Given the description of an element on the screen output the (x, y) to click on. 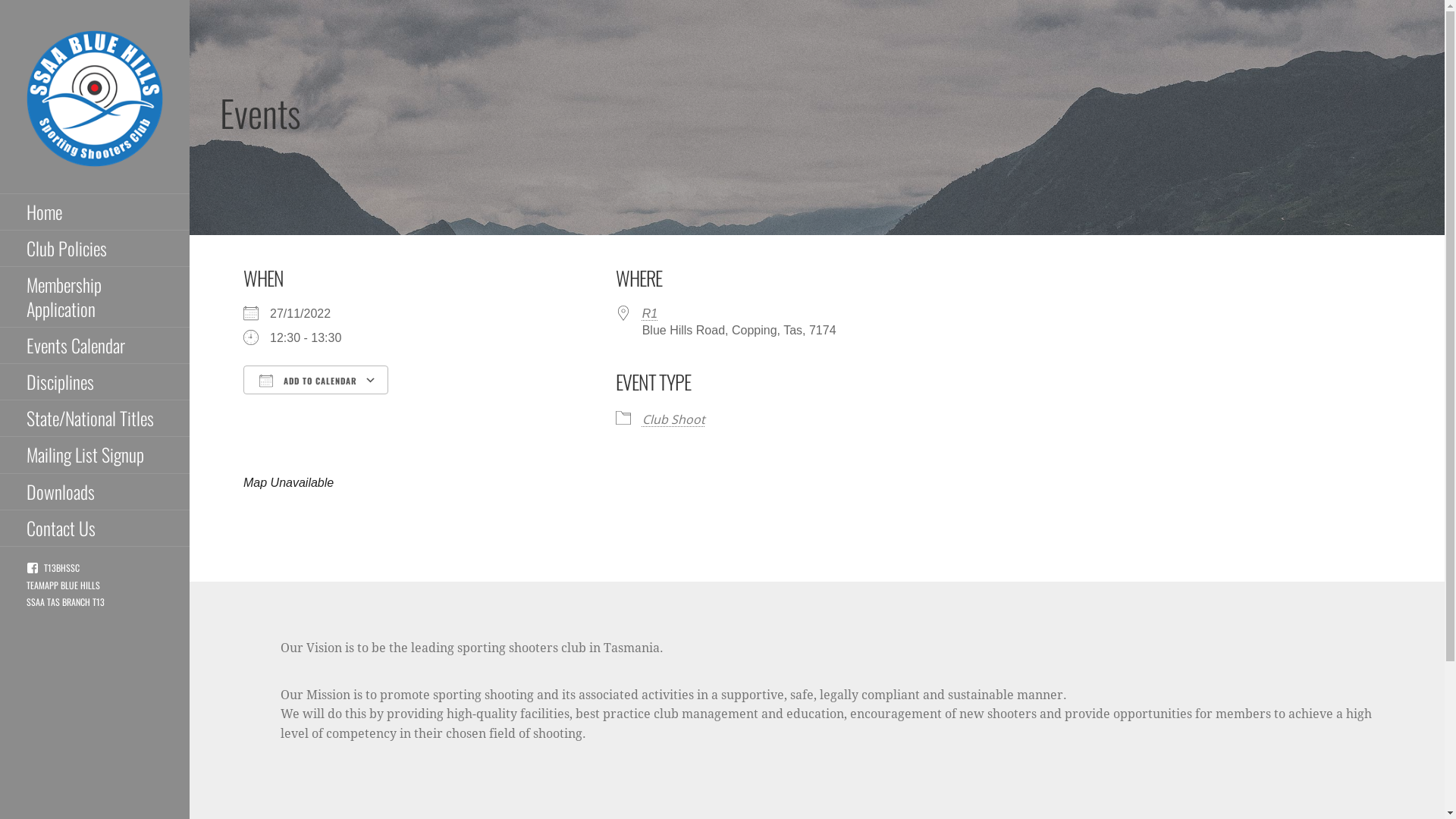
Events Calendar Element type: text (94, 345)
Club Policies Element type: text (94, 248)
ADD TO CALENDAR Element type: text (315, 379)
Club Shoot Element type: text (673, 419)
Contact Us Element type: text (94, 528)
R1 Element type: text (649, 313)
Mailing List Signup Element type: text (94, 454)
Home Element type: text (94, 212)
Membership Application Element type: text (94, 296)
SSAA TAS BRANCH T13 Element type: text (65, 601)
Downloads Element type: text (94, 491)
TEAMAPP BLUE HILLS Element type: text (63, 584)
Download ICS Element type: text (314, 406)
State/National Titles Element type: text (94, 418)
T13BHSSC Element type: text (52, 567)
Disciplines Element type: text (94, 382)
